Given the description of an element on the screen output the (x, y) to click on. 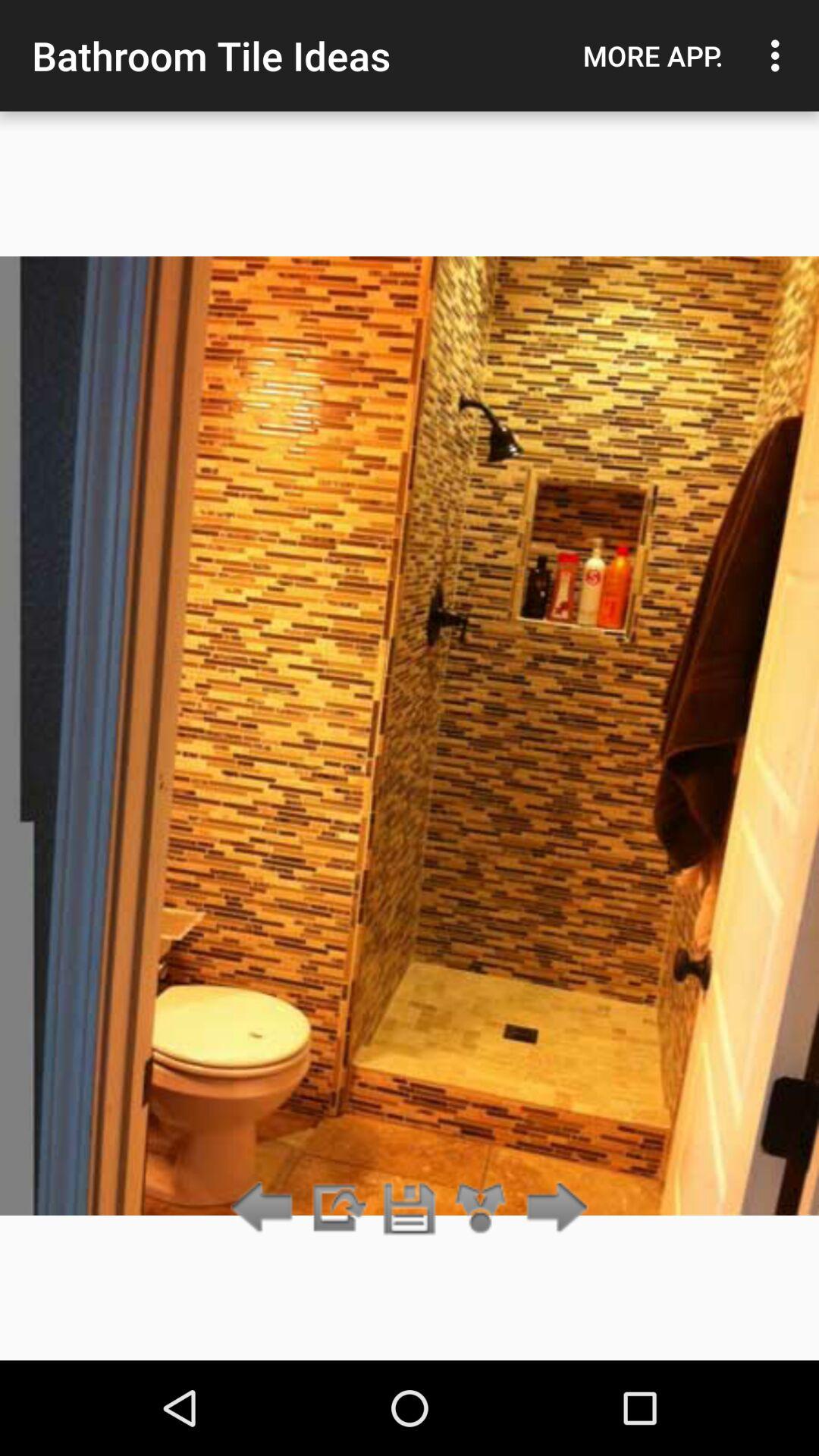
click icon below bathroom tile ideas icon (337, 1208)
